Given the description of an element on the screen output the (x, y) to click on. 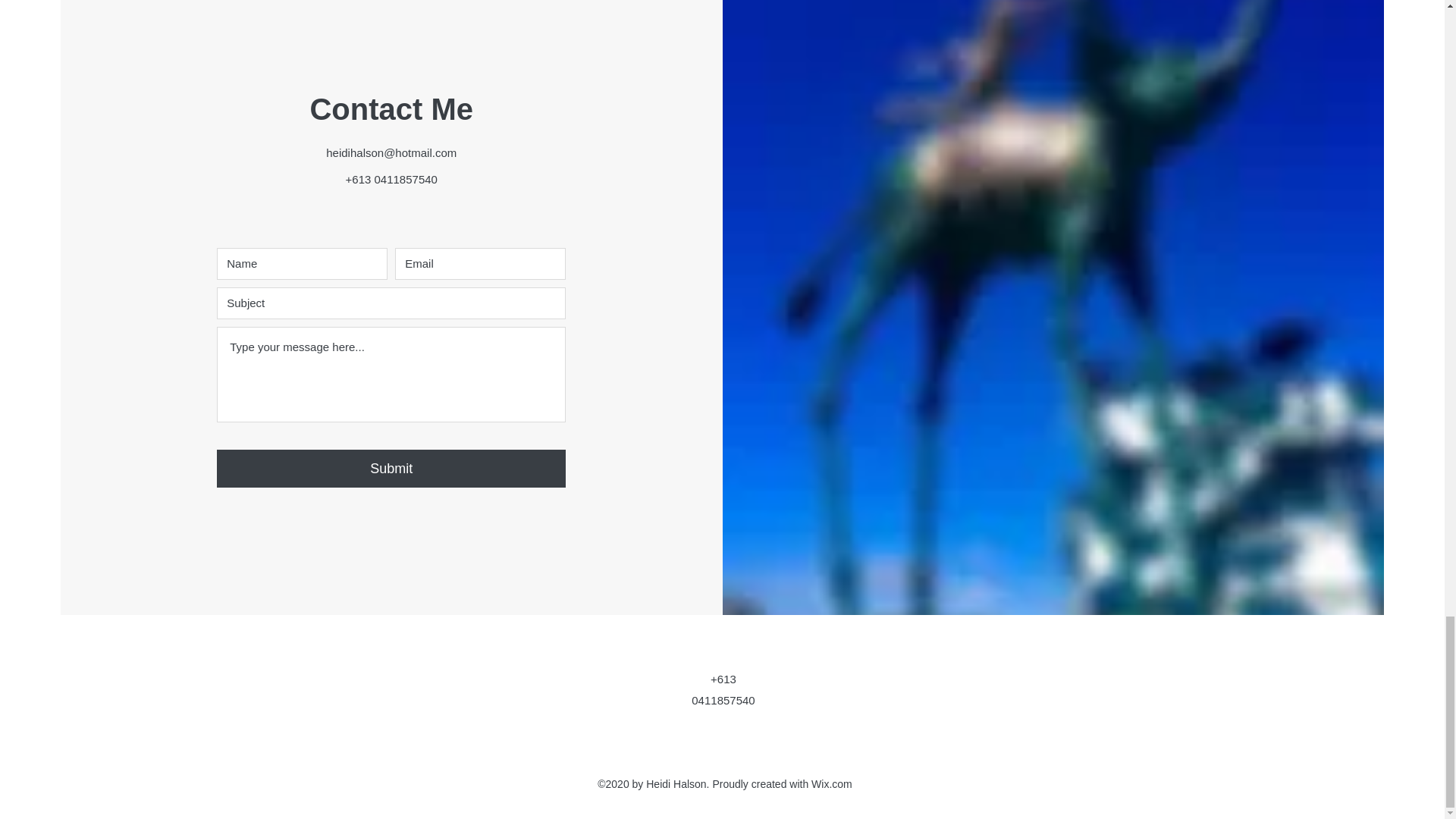
Submit (391, 468)
